Given the description of an element on the screen output the (x, y) to click on. 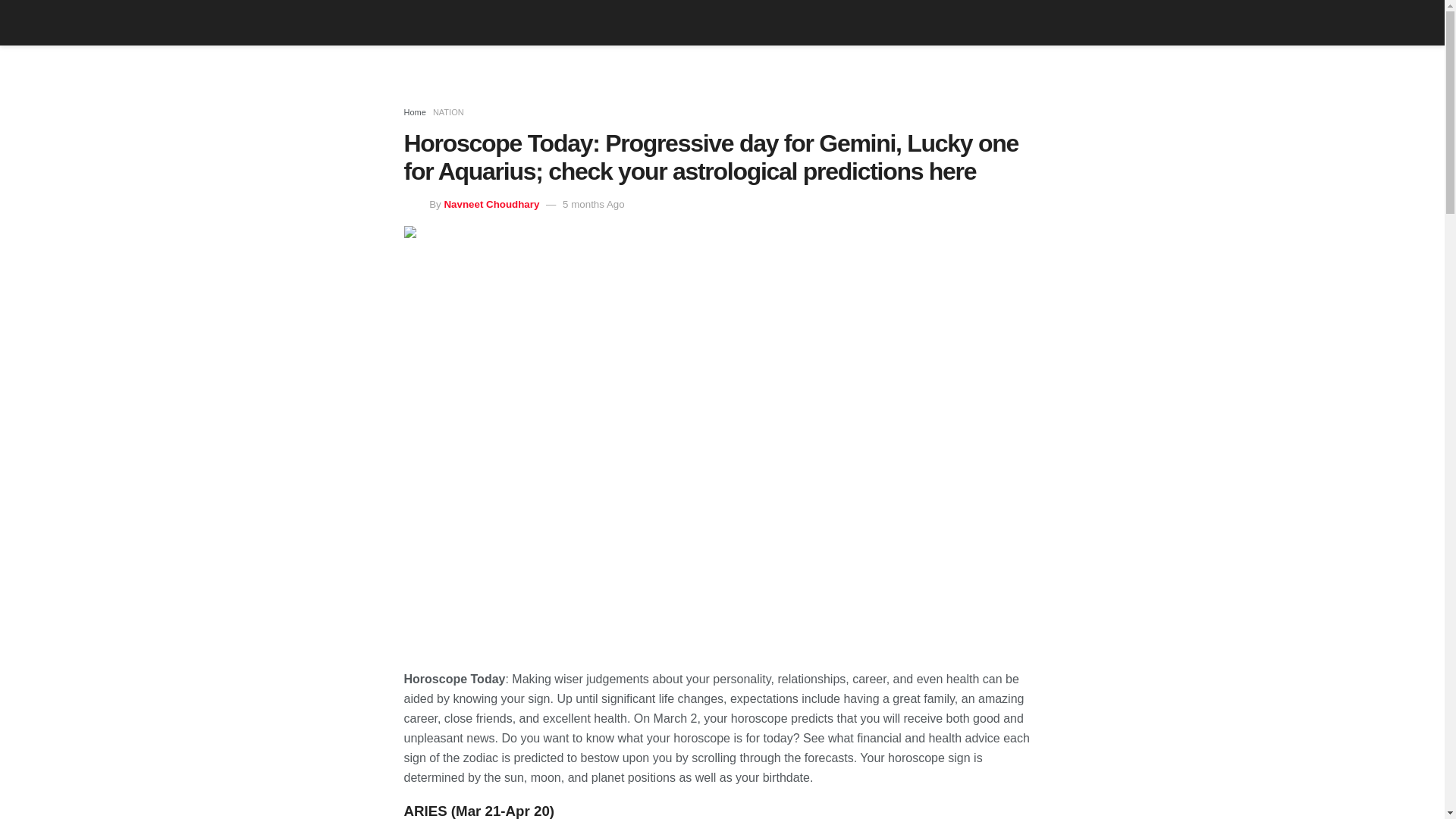
NATION (448, 112)
Home (414, 112)
Navneet Choudhary (491, 204)
